Given the description of an element on the screen output the (x, y) to click on. 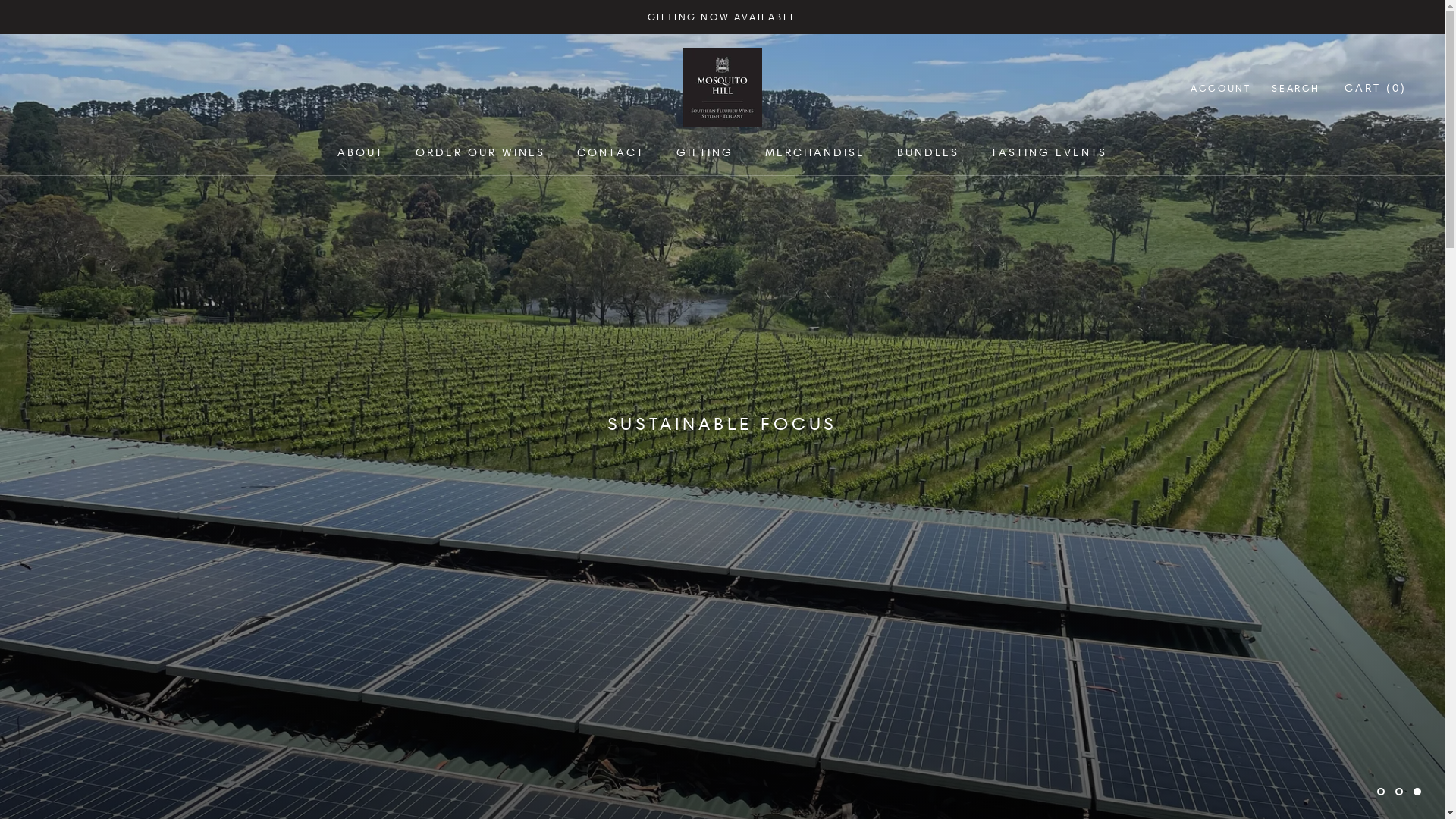
CART (0) Element type: text (1375, 87)
ABOUT Element type: text (360, 152)
SEARCH Element type: text (1295, 88)
BUNDLES
BUNDLES Element type: text (928, 152)
TASTING EVENTS
TASTING EVENTS Element type: text (1049, 152)
MERCHANDISE
MERCHANDISE Element type: text (815, 152)
ORDER OUR WINES Element type: text (480, 152)
ACCOUNT Element type: text (1220, 88)
CONTACT
CONTACT Element type: text (610, 152)
GIFTING
GIFTING Element type: text (704, 152)
